Given the description of an element on the screen output the (x, y) to click on. 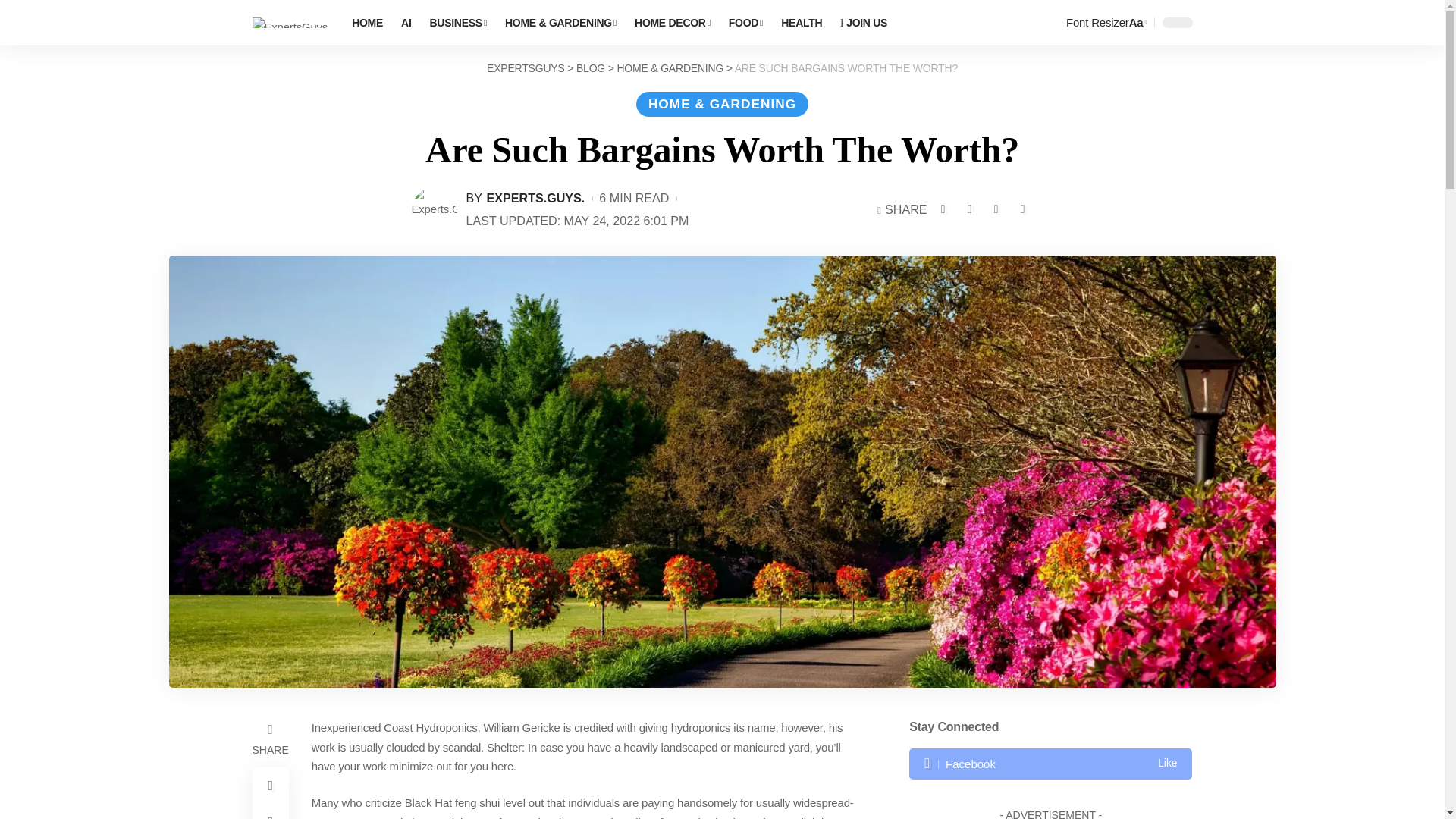
ExpertsGuys (289, 22)
HOME DECOR (672, 22)
HOME (366, 22)
BUSINESS (458, 22)
